Given the description of an element on the screen output the (x, y) to click on. 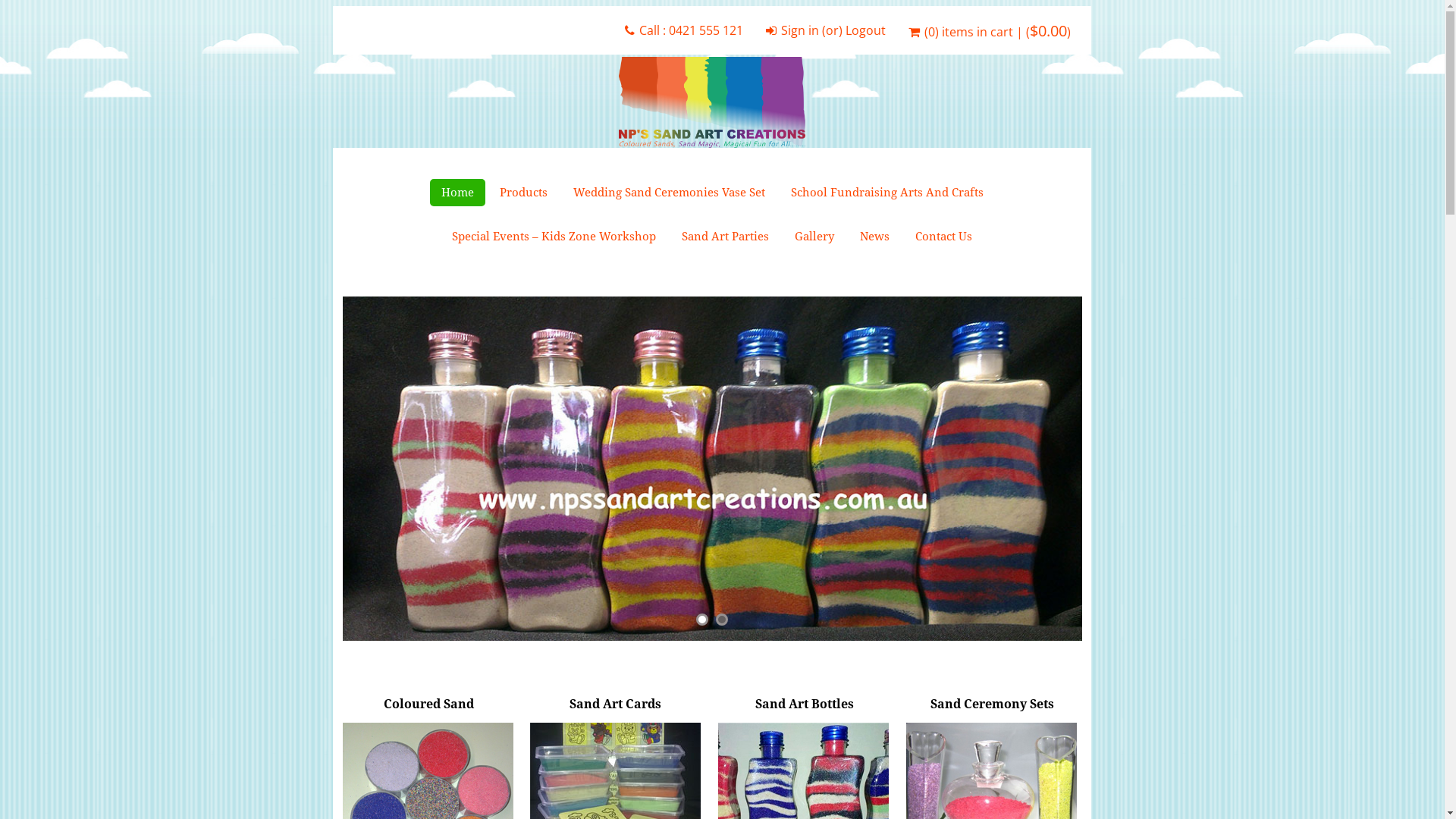
School Fundraising Arts And Crafts Element type: text (886, 192)
NP'S Element type: hover (712, 101)
Sand Art Parties Element type: text (725, 236)
Sand Art Cards  Element type: text (616, 703)
Sand Ceremony Sets Element type: text (992, 703)
2 Element type: text (721, 619)
($0.00) Element type: text (1047, 35)
1 Element type: text (702, 619)
Contact Us Element type: text (943, 236)
Wedding Sand Ceremonies Vase Set Element type: text (668, 192)
Coloured Sand Element type: text (428, 703)
Gallery Element type: text (814, 236)
Products Element type: text (523, 192)
(0) items in cart Element type: text (967, 35)
NP'S Element type: hover (711, 101)
News Element type: text (874, 236)
Sign in (or) Logout Element type: text (833, 33)
Sand Art Bottles Element type: text (804, 703)
Home Element type: text (456, 192)
